Given the description of an element on the screen output the (x, y) to click on. 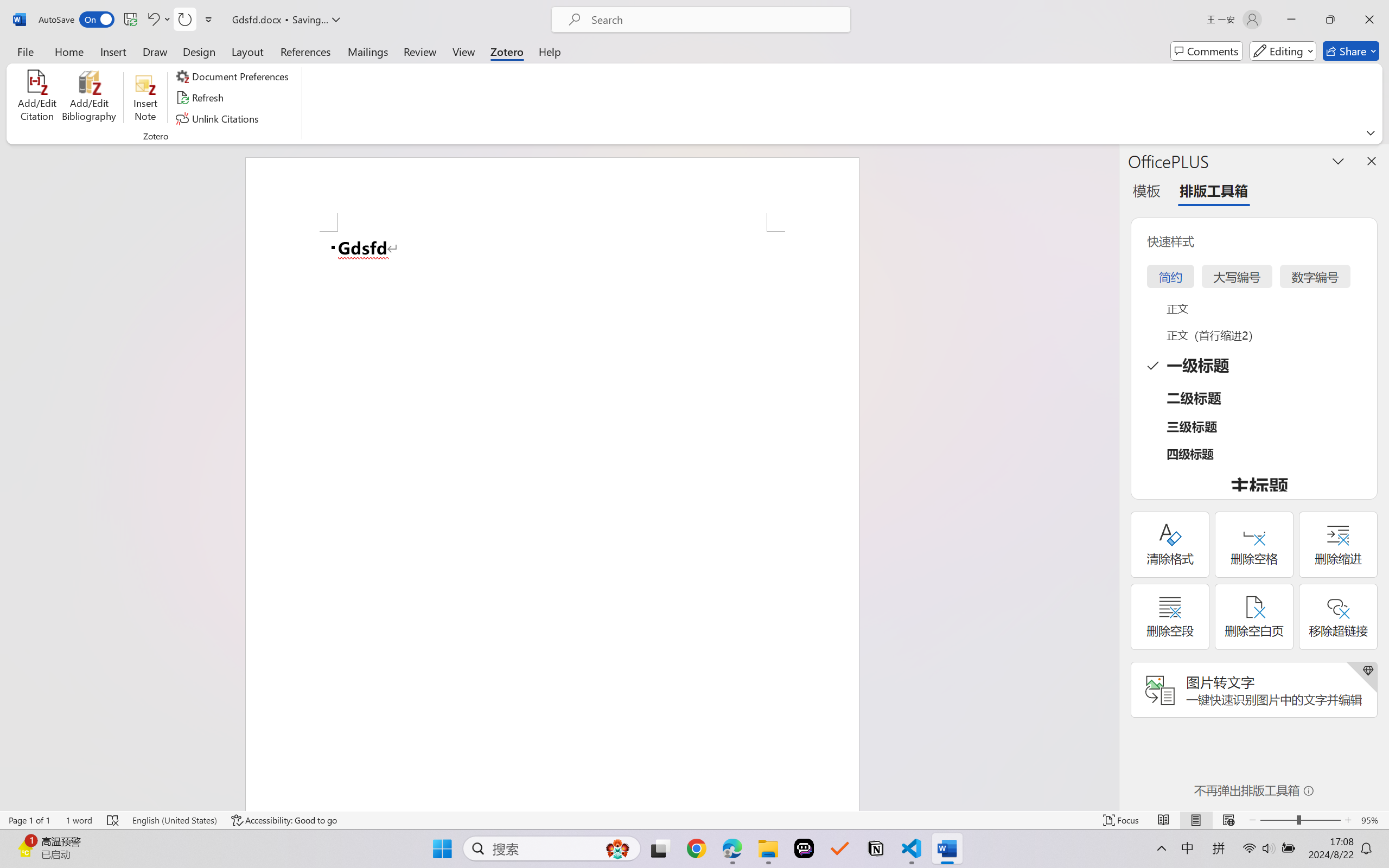
Undo <ApplyStyleToDoc>b__0 (158, 19)
Class: MsoCommandBar (694, 819)
